Given the description of an element on the screen output the (x, y) to click on. 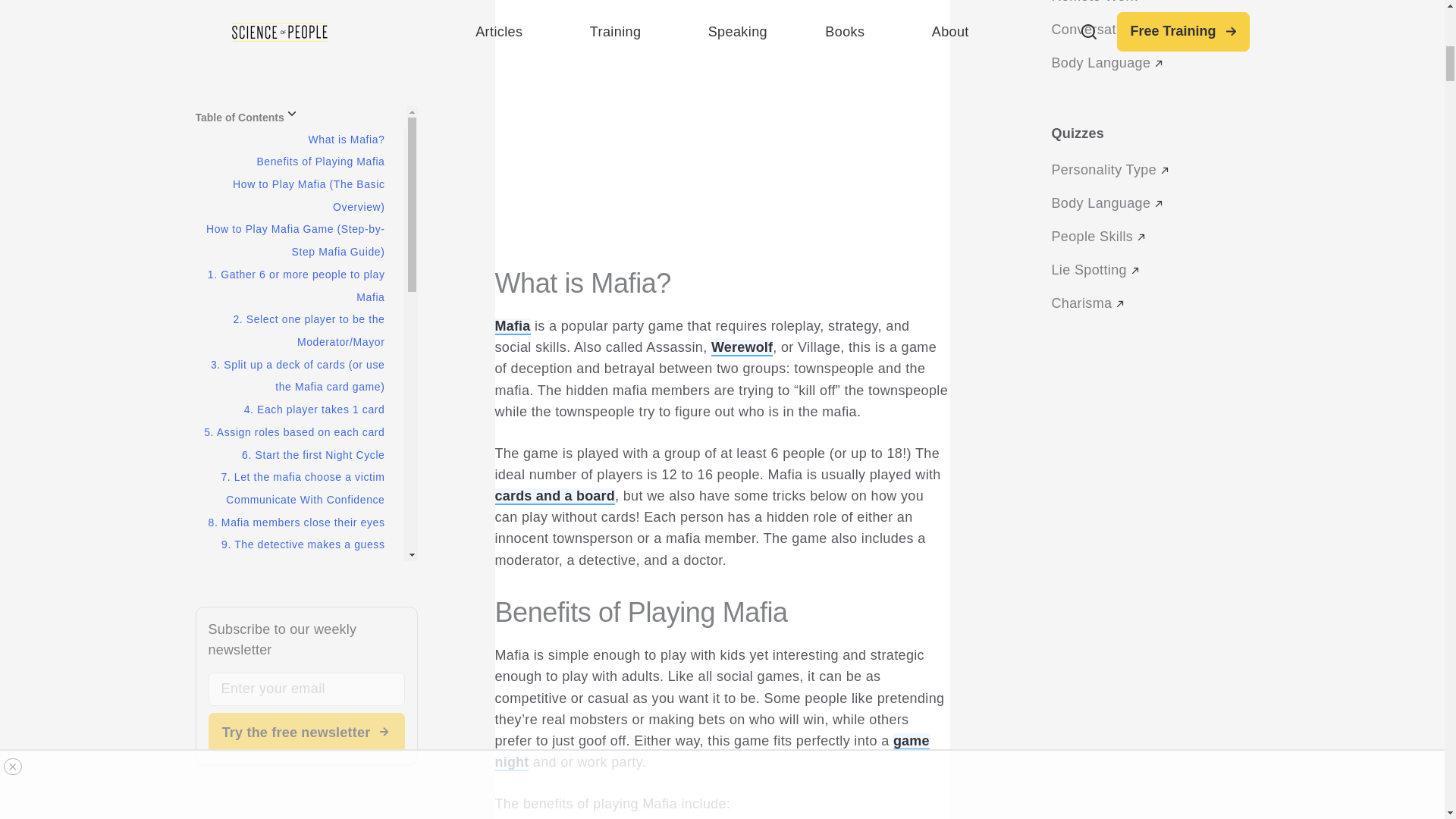
9. The detective makes a guess (302, 83)
11. The doctor gets to save someone (314, 162)
8. Mafia members close their eyes (296, 61)
Communicate With Confidence (304, 39)
7. Let the mafia choose a victim (302, 16)
